Given the description of an element on the screen output the (x, y) to click on. 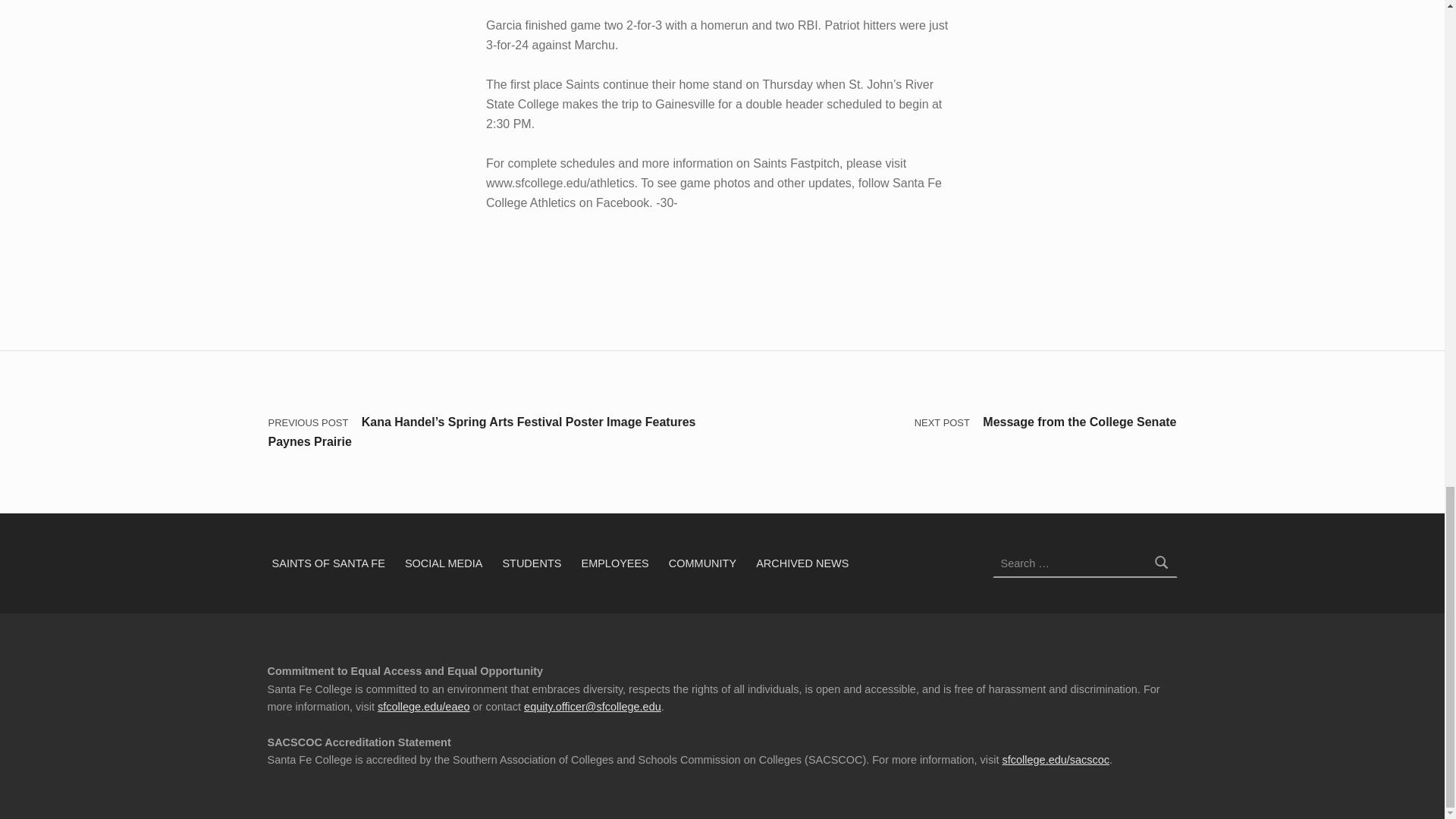
STUDENTS (531, 562)
SOCIAL MEDIA (443, 562)
SAINTS OF SANTA FE (327, 562)
EMPLOYEES (614, 562)
ARCHIVED NEWS (802, 562)
COMMUNITY (702, 562)
NEXT POST Message from the College Senate (949, 422)
